Given the description of an element on the screen output the (x, y) to click on. 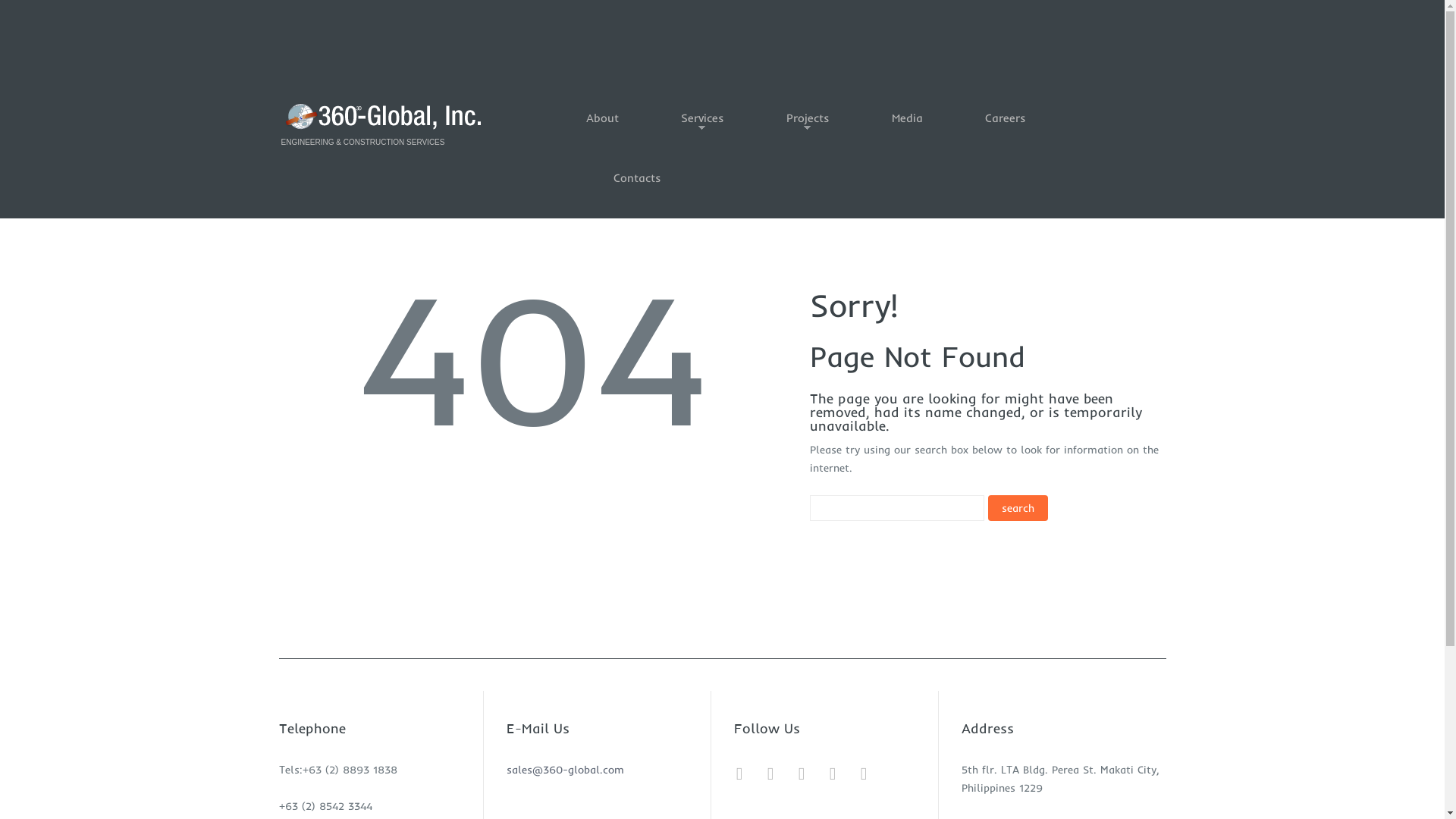
Media Element type: text (906, 128)
search Element type: text (1017, 507)
About Element type: text (602, 128)
sales@360-global.com Element type: text (565, 769)
Engineering & Construction Services Element type: hover (384, 115)
Careers Element type: text (1005, 128)
Contacts Element type: text (637, 188)
